Given the description of an element on the screen output the (x, y) to click on. 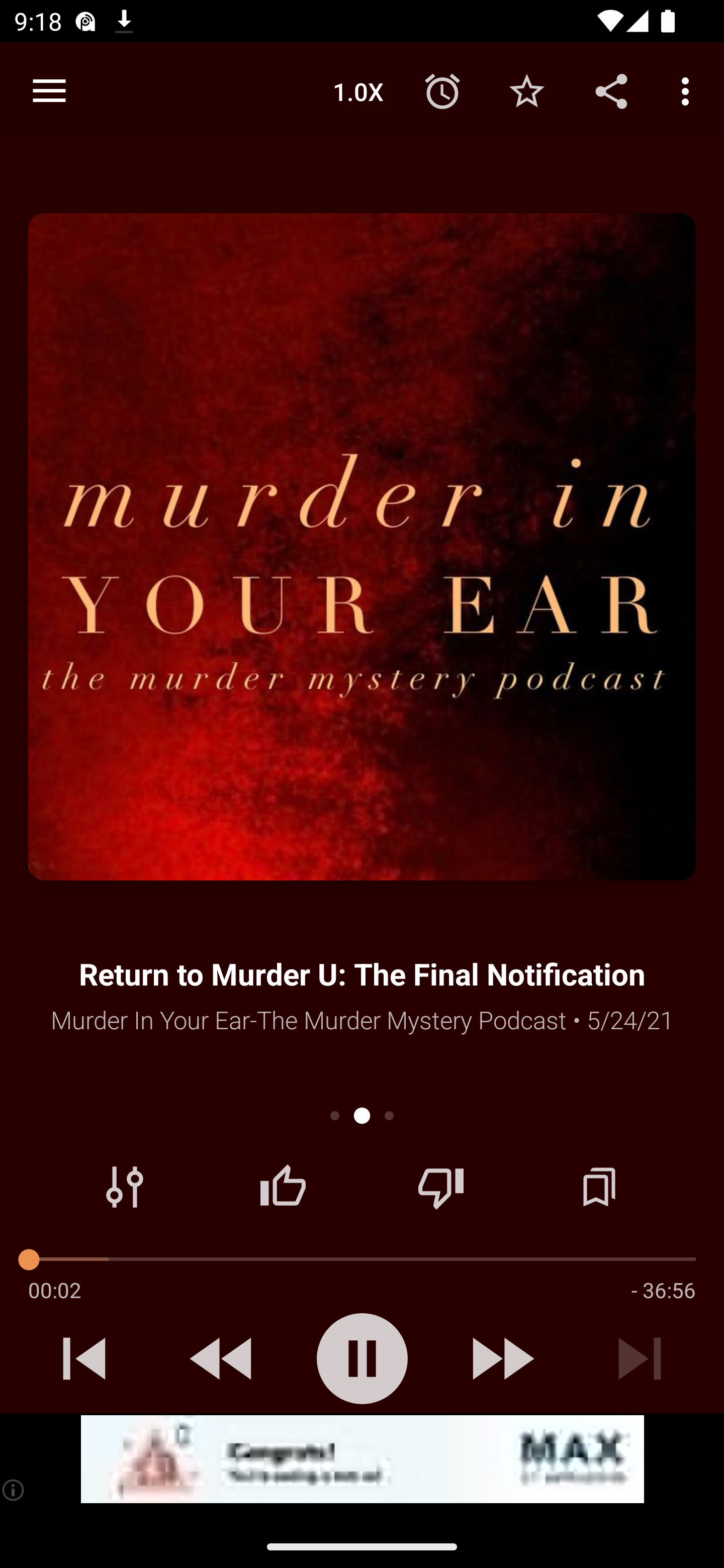
Open navigation sidebar (49, 91)
1.0X (357, 90)
Sleep Timer (442, 90)
Favorite (526, 90)
Share (611, 90)
More options (688, 90)
Episode description (361, 547)
Audio effects (124, 1186)
Thumbs up (283, 1186)
Thumbs down (440, 1186)
Chapters / Bookmarks (598, 1186)
- 36:57 (663, 1289)
Previous track (84, 1358)
Skip 15s backward (222, 1358)
Play / Pause (362, 1358)
Skip 30s forward (500, 1358)
Next track (639, 1358)
app-monetization (362, 1459)
(i) (14, 1489)
